Given the description of an element on the screen output the (x, y) to click on. 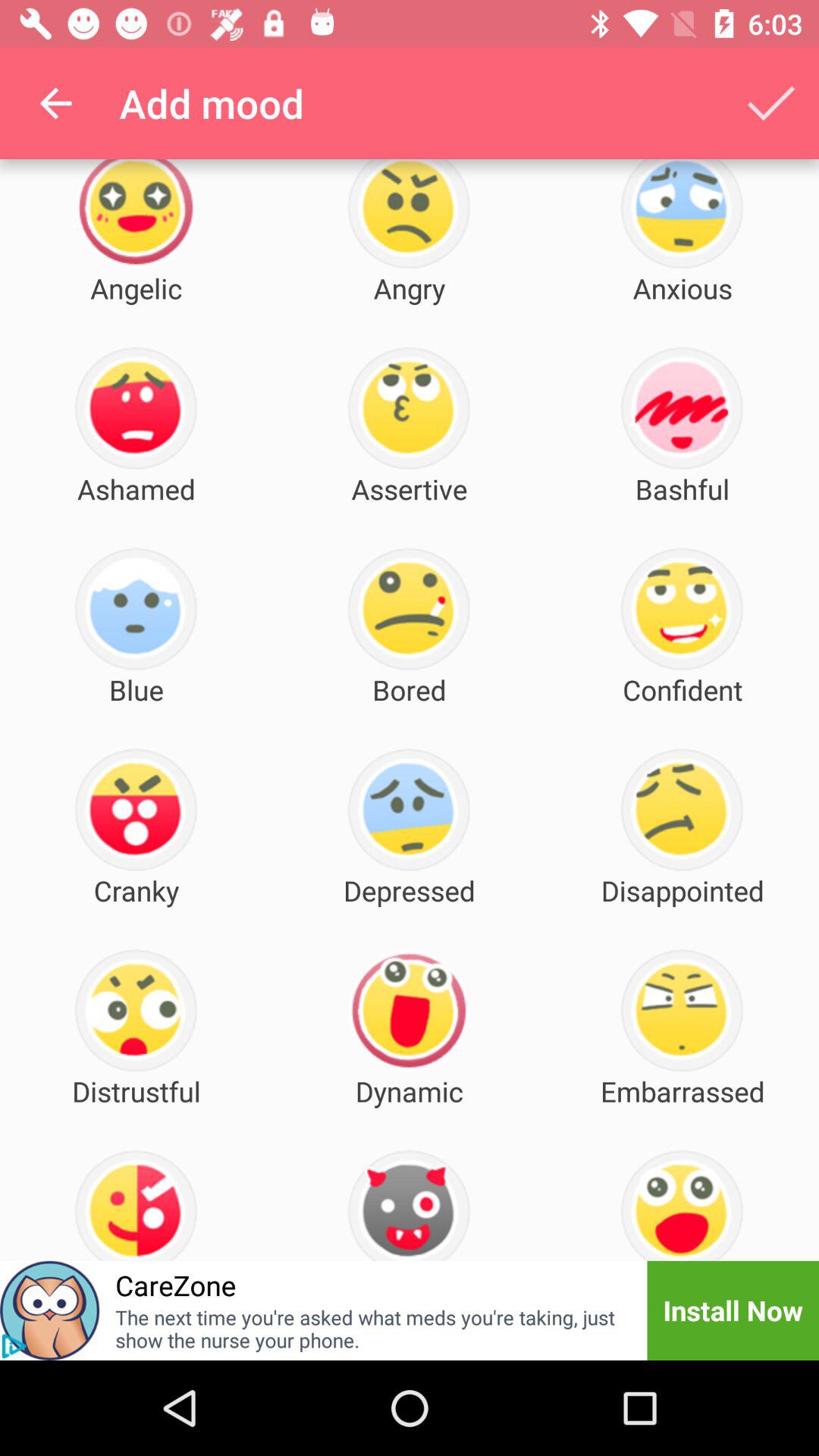
flip to install now item (733, 1310)
